Given the description of an element on the screen output the (x, y) to click on. 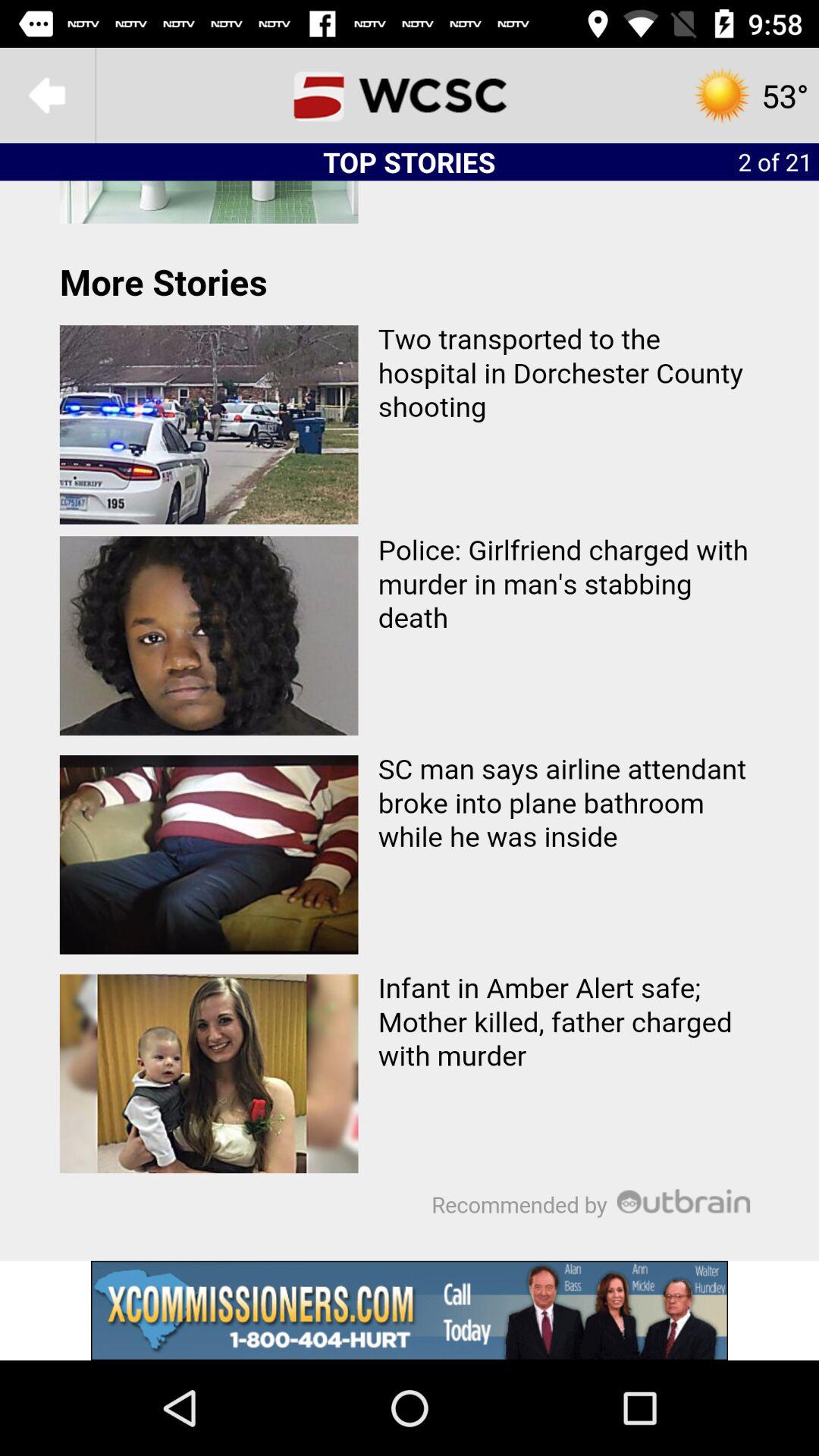
press the icon below the top stories icon (409, 720)
